Given the description of an element on the screen output the (x, y) to click on. 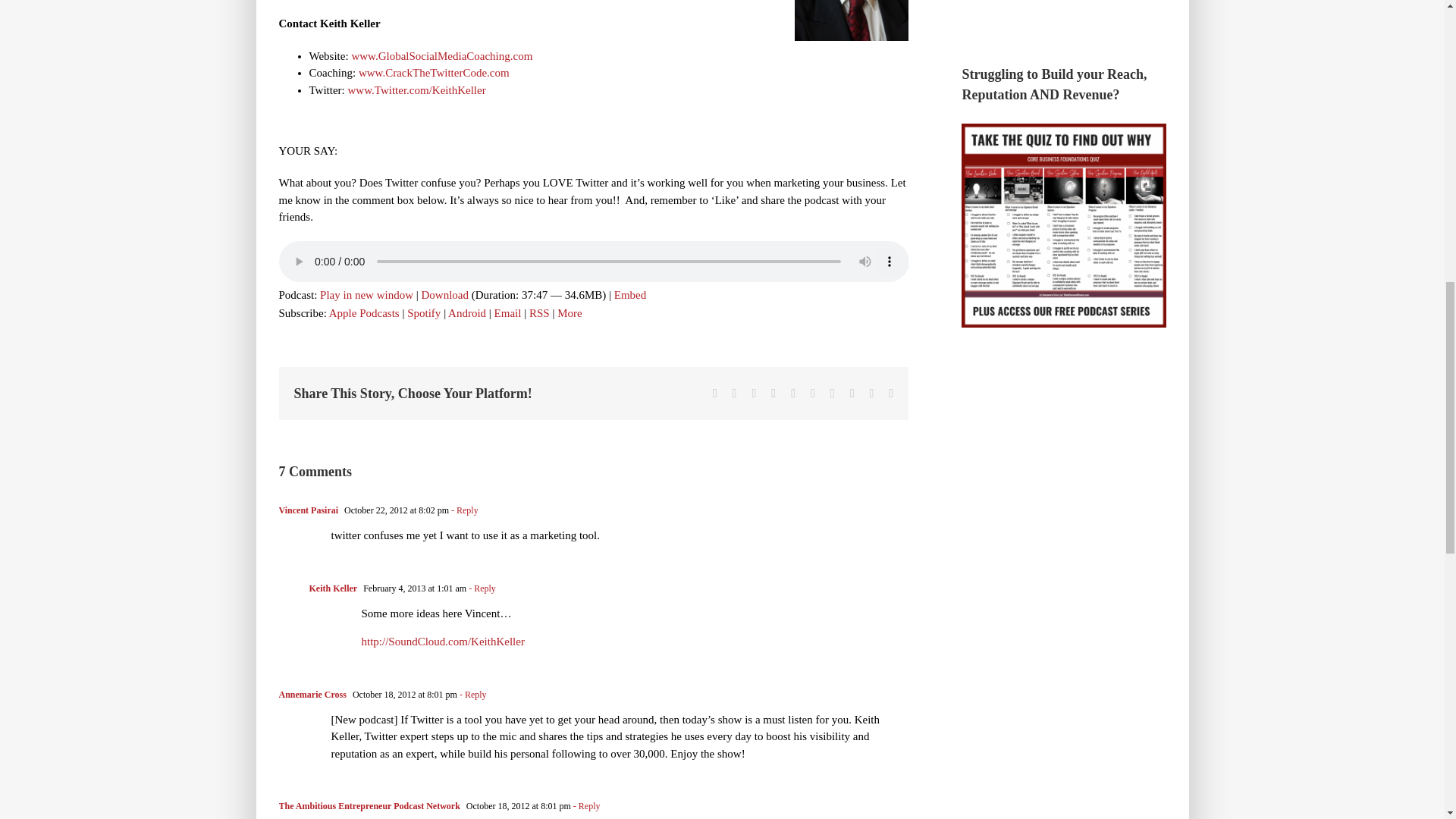
Subscribe by Email (508, 312)
www.GlobalSocialMediaCoaching.com (441, 55)
www.CrackTheTwitterCode.com (433, 72)
Play in new window (366, 295)
Subscribe on Android (467, 312)
Embed (630, 295)
Subscribe on Spotify (424, 312)
Subscribe via RSS (539, 312)
More (569, 312)
Play in new window (366, 295)
